Given the description of an element on the screen output the (x, y) to click on. 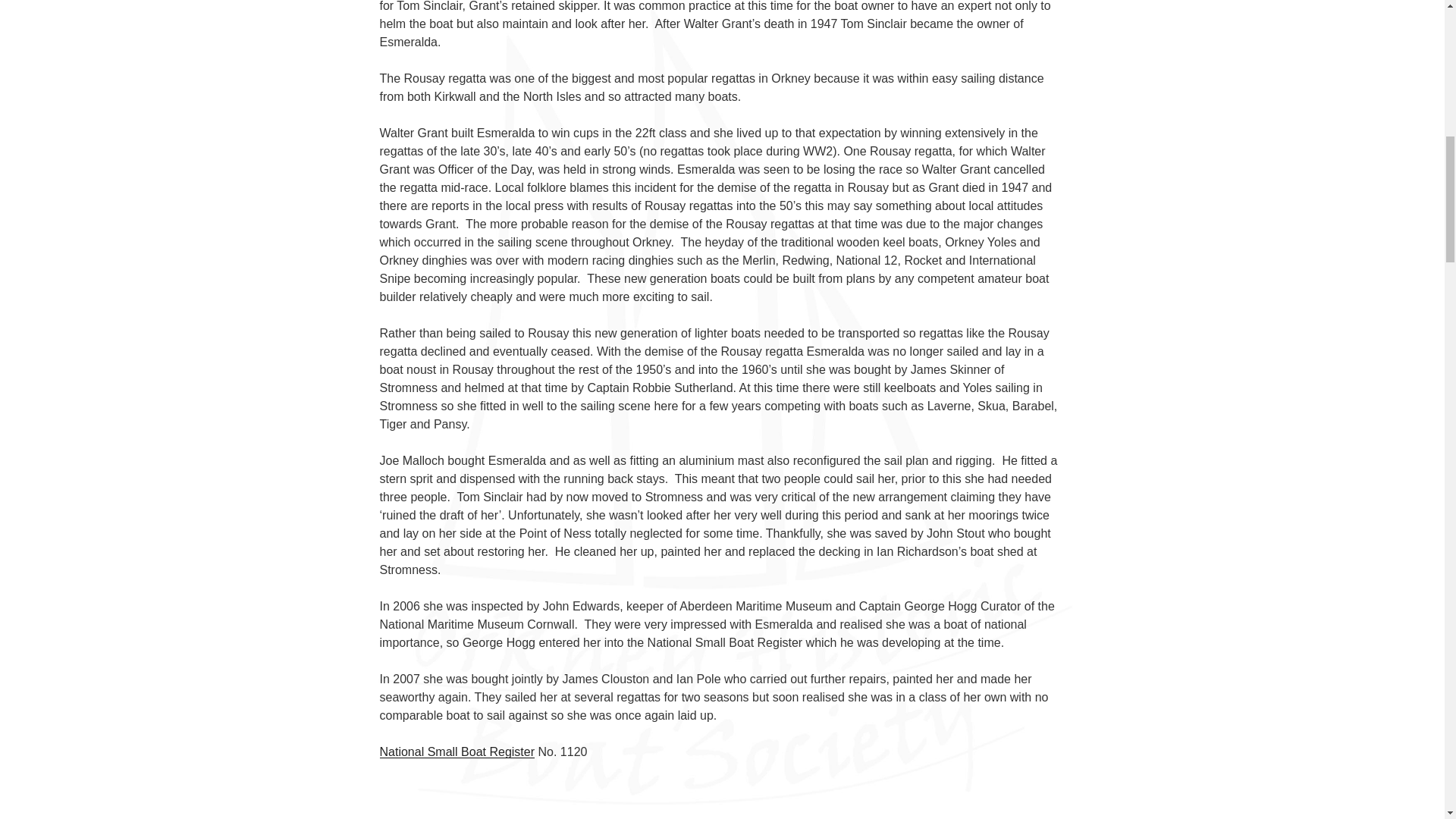
National Small Boat Register (456, 751)
Esmeralda sailing in Rousay Regatta 1937 (722, 799)
